Given the description of an element on the screen output the (x, y) to click on. 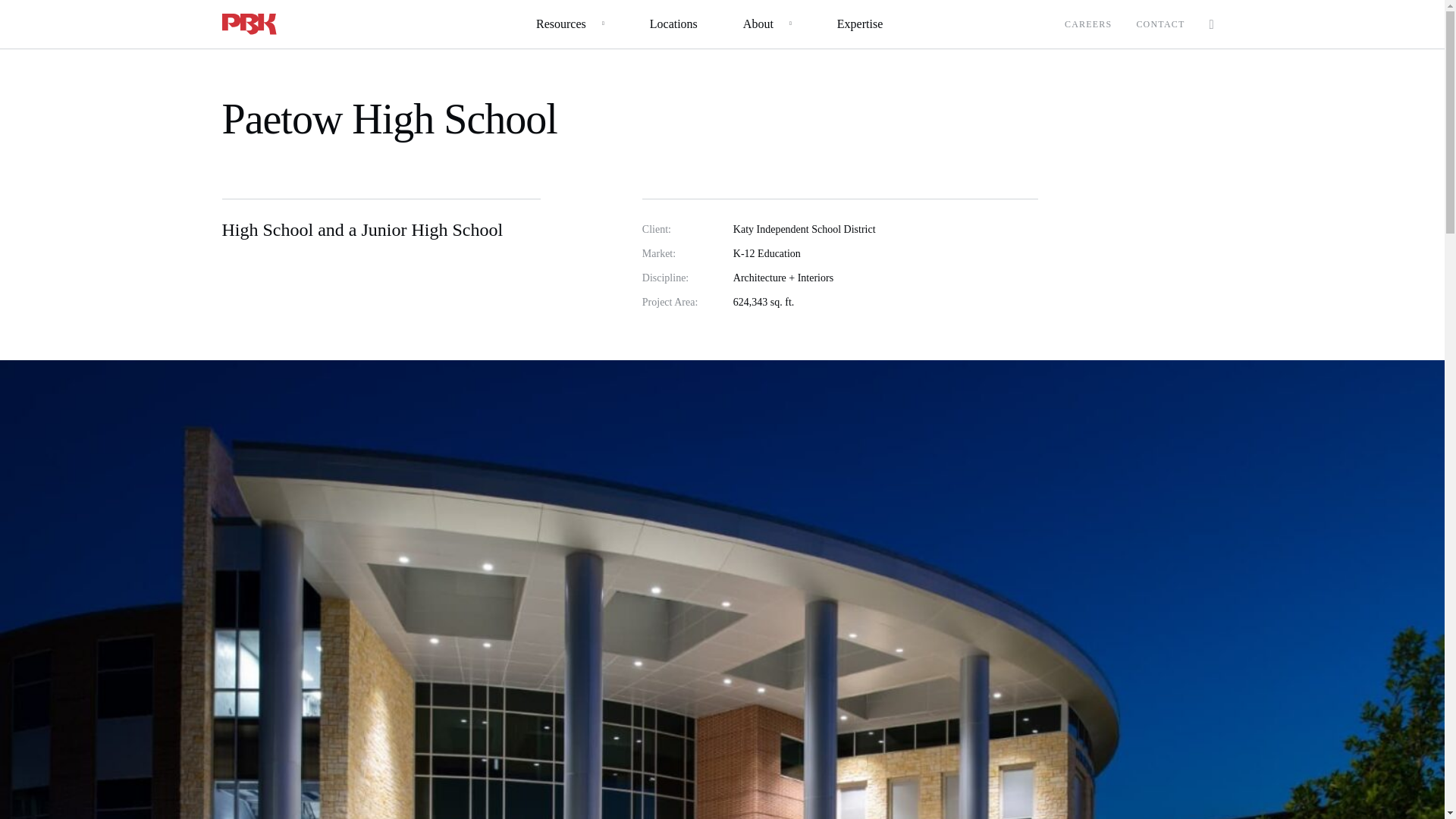
CAREERS (1088, 23)
Expertise (859, 23)
Resources (560, 23)
CONTACT (1160, 23)
About (757, 23)
Locations (673, 23)
